Given the description of an element on the screen output the (x, y) to click on. 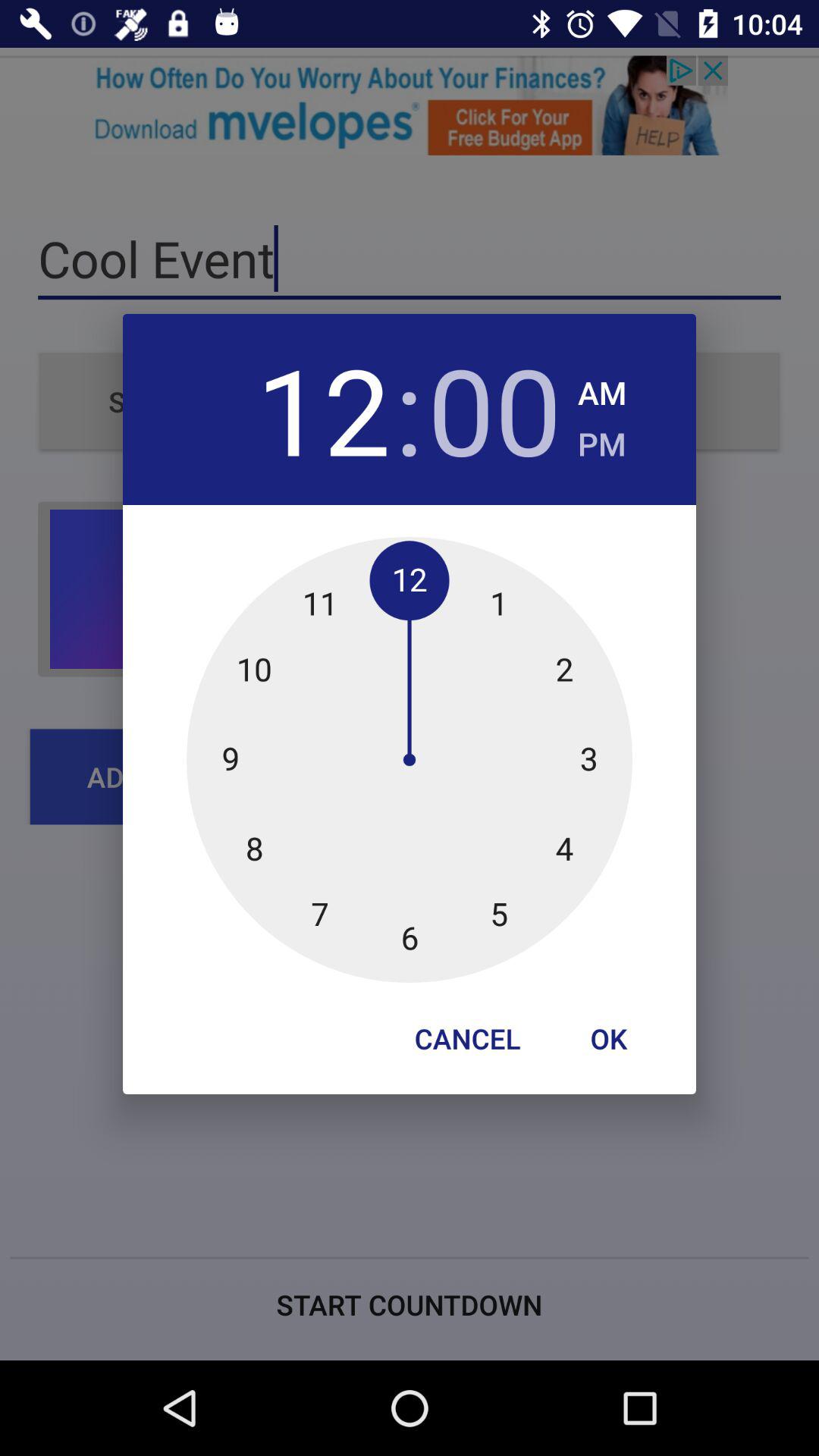
select the checkbox above the pm checkbox (601, 388)
